Given the description of an element on the screen output the (x, y) to click on. 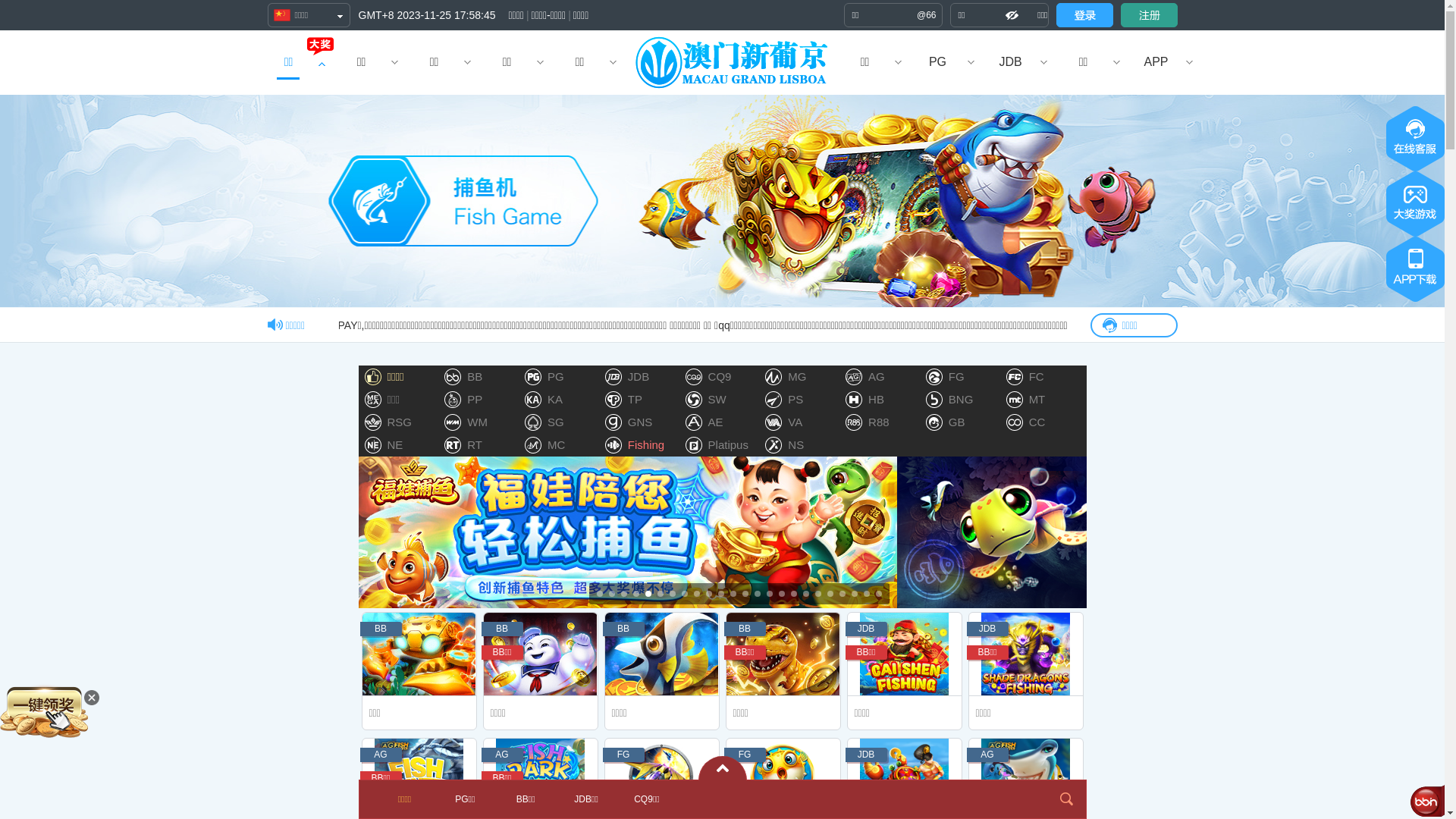
JDB Element type: text (1009, 62)
PG Element type: text (936, 62)
APP Element type: text (1155, 62)
